Given the description of an element on the screen output the (x, y) to click on. 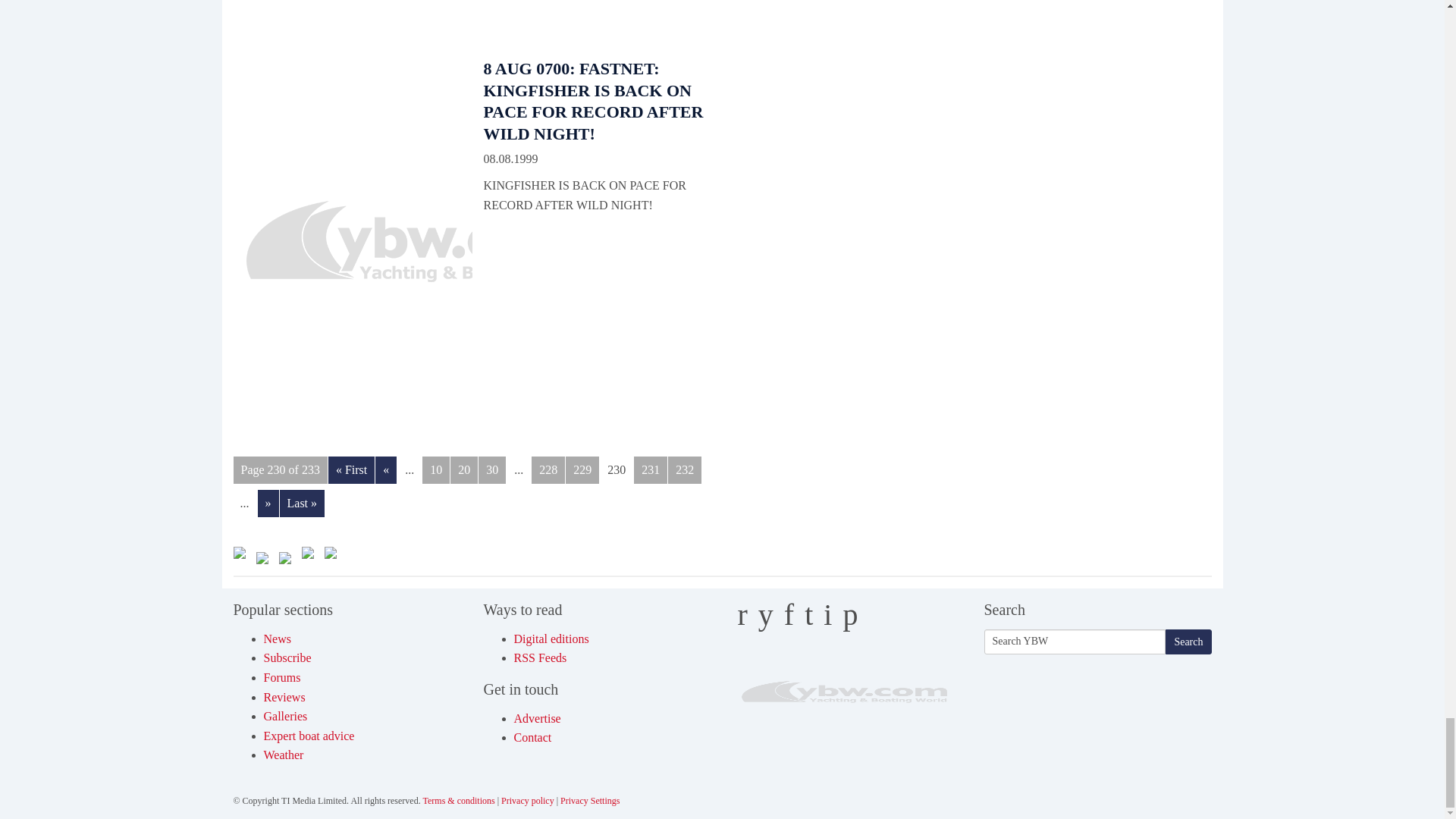
Page 228 (547, 470)
Page 229 (582, 470)
Page 30 (492, 470)
Page 10 (435, 470)
Page 232 (684, 470)
Page 20 (463, 470)
Page 231 (649, 470)
